Given the description of an element on the screen output the (x, y) to click on. 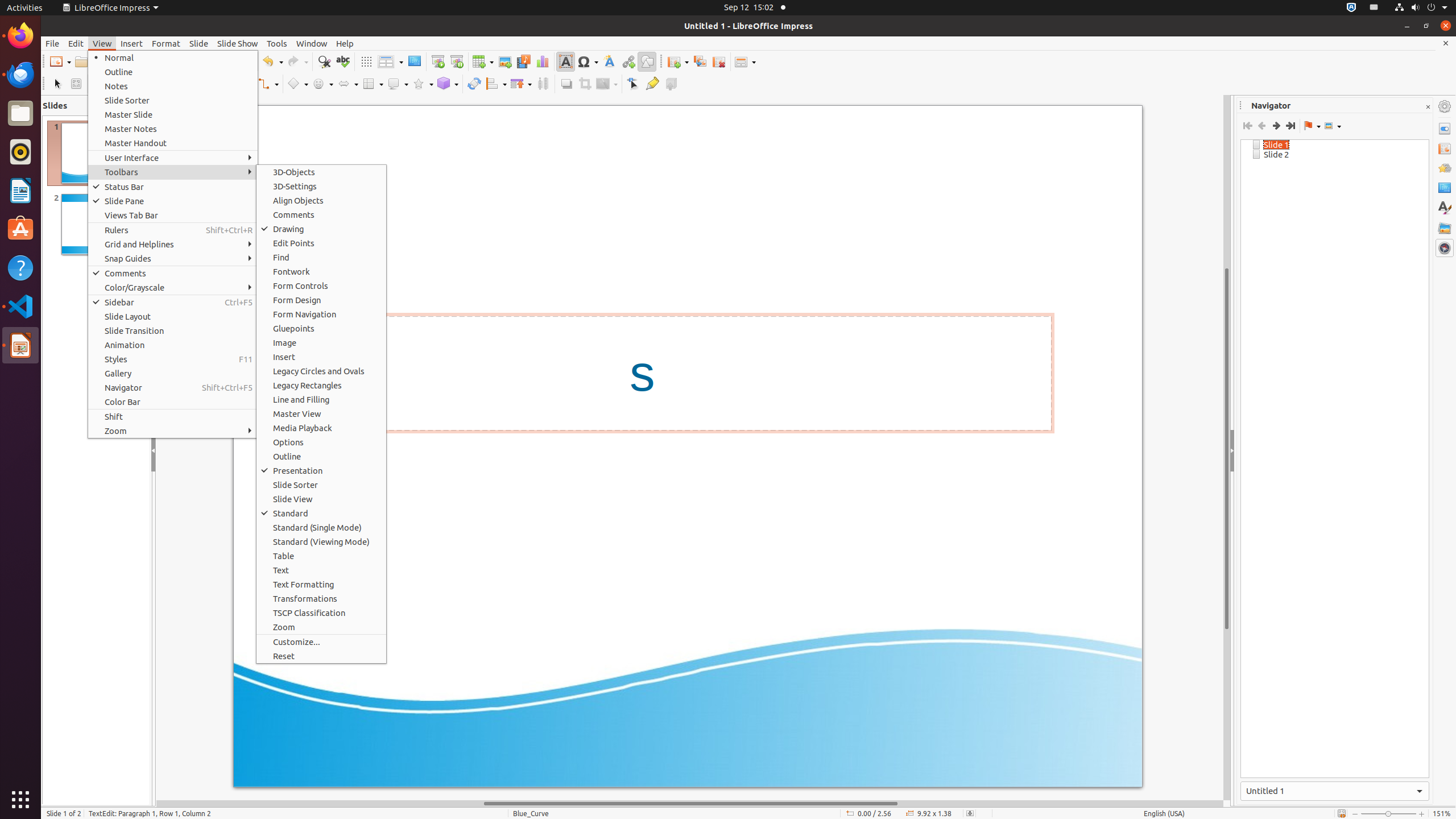
Animation Element type: radio-button (1444, 168)
Slide Transition Element type: radio-button (1444, 148)
Color Bar Element type: check-menu-item (172, 401)
First Slide Element type: push-button (1247, 125)
Show Shapes Element type: push-button (1332, 125)
